Given the description of an element on the screen output the (x, y) to click on. 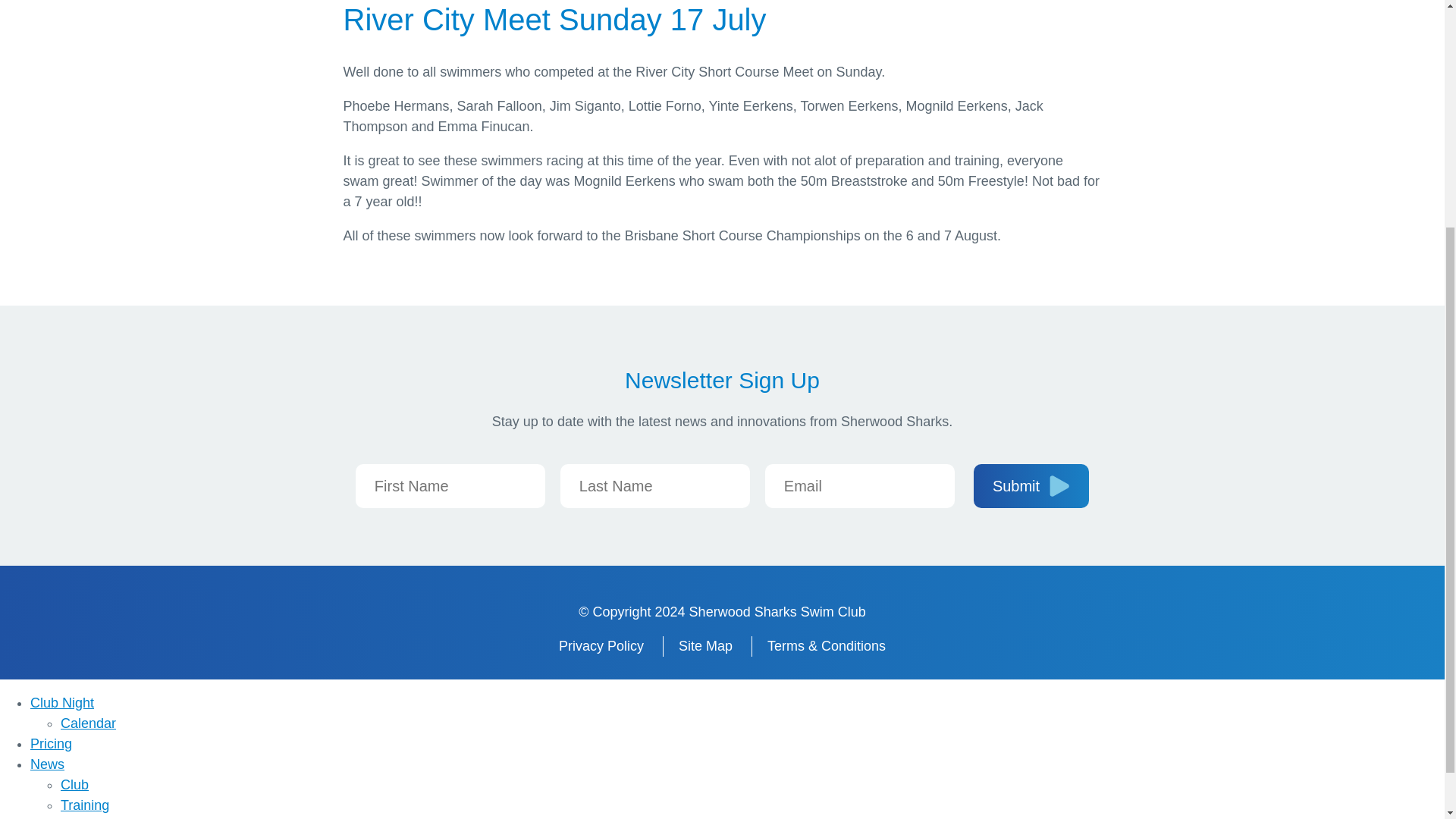
Submit (1031, 485)
Submit (1031, 485)
Club Night (62, 702)
News (47, 764)
Calendar (88, 723)
Pricing (50, 743)
Training (85, 805)
Club (74, 784)
Site Map (705, 645)
Privacy Policy (601, 645)
